Given the description of an element on the screen output the (x, y) to click on. 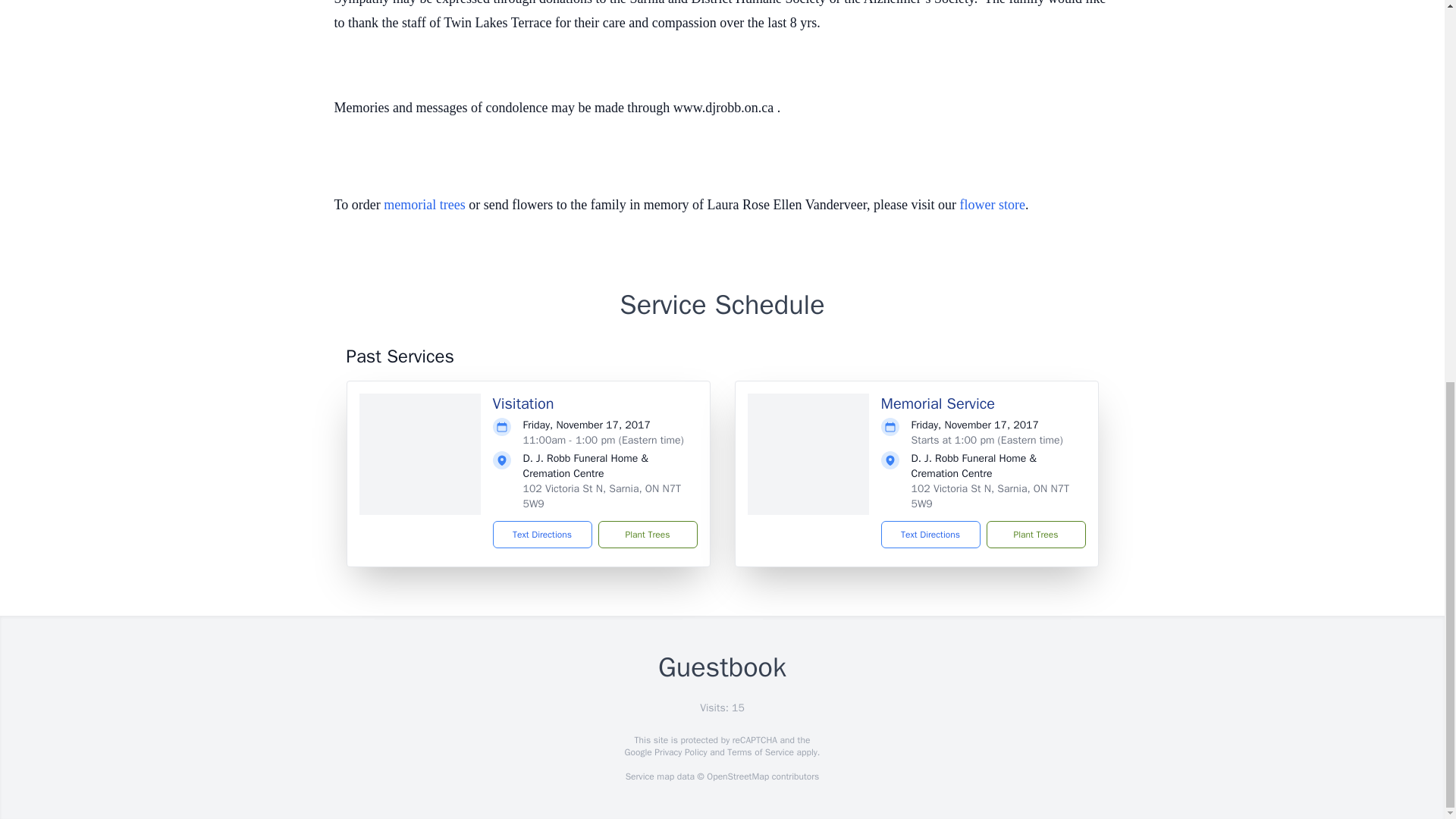
Privacy Policy (679, 752)
flower store (992, 204)
Terms of Service (759, 752)
102 Victoria St N, Sarnia, ON N7T 5W9 (601, 496)
102 Victoria St N, Sarnia, ON N7T 5W9 (990, 496)
Plant Trees (646, 533)
Text Directions (929, 533)
Text Directions (542, 533)
Plant Trees (1034, 533)
memorial trees (424, 204)
OpenStreetMap (737, 776)
